Given the description of an element on the screen output the (x, y) to click on. 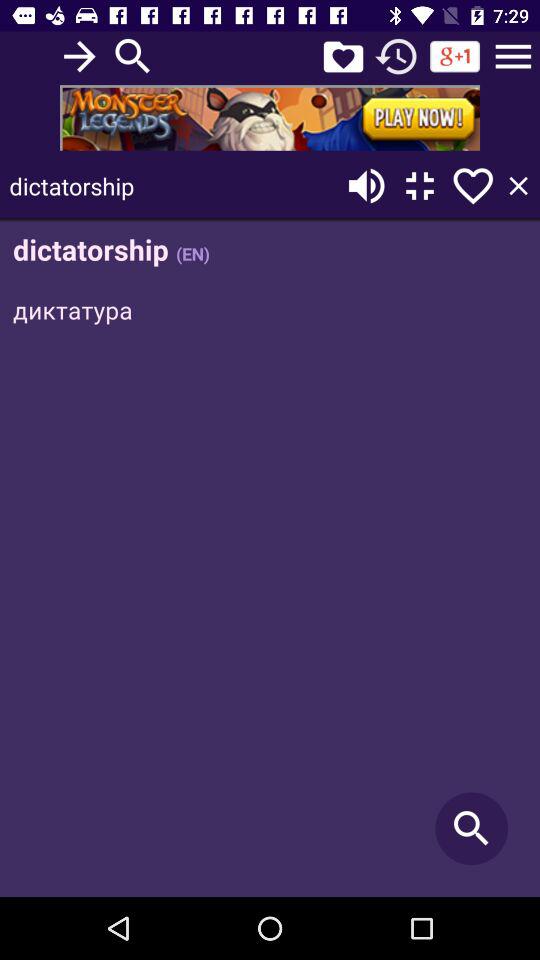
close button (518, 185)
